Given the description of an element on the screen output the (x, y) to click on. 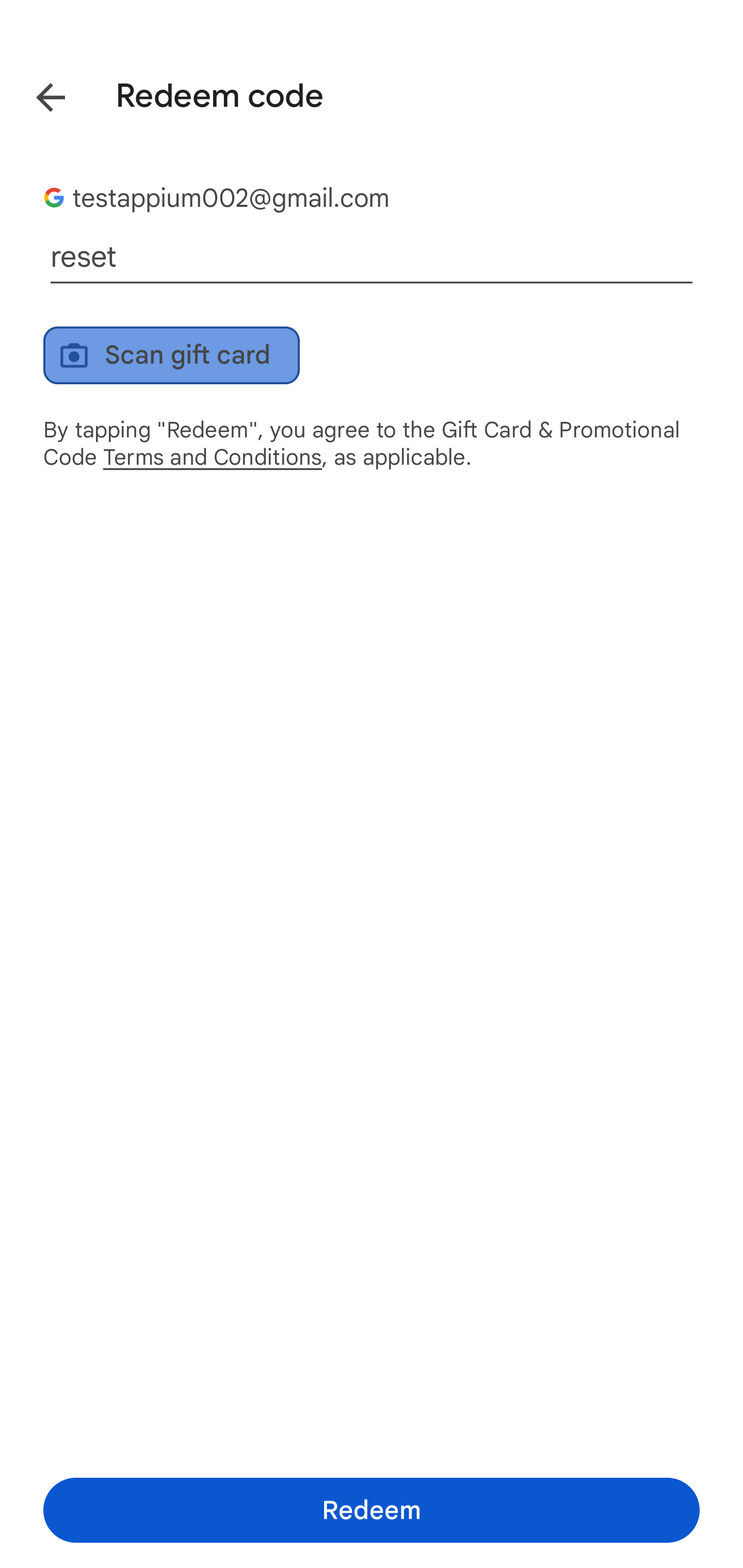
Back (36, 94)
reset (371, 256)
Scan gift card (171, 355)
Redeem (371, 1509)
